Given the description of an element on the screen output the (x, y) to click on. 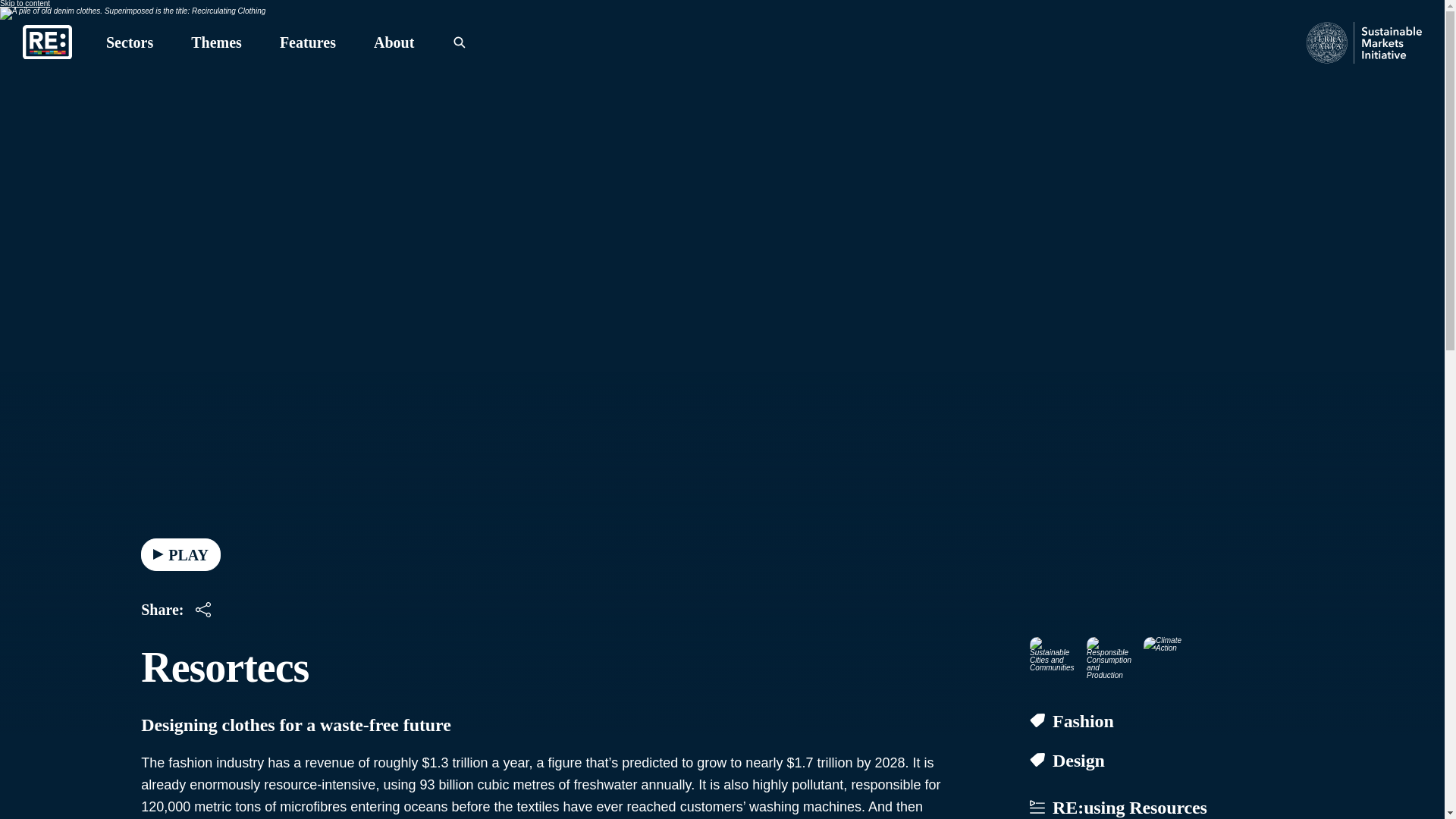
Sectors (129, 42)
Skip to content (24, 3)
Features (307, 42)
About (393, 42)
Themes (215, 42)
